Given the description of an element on the screen output the (x, y) to click on. 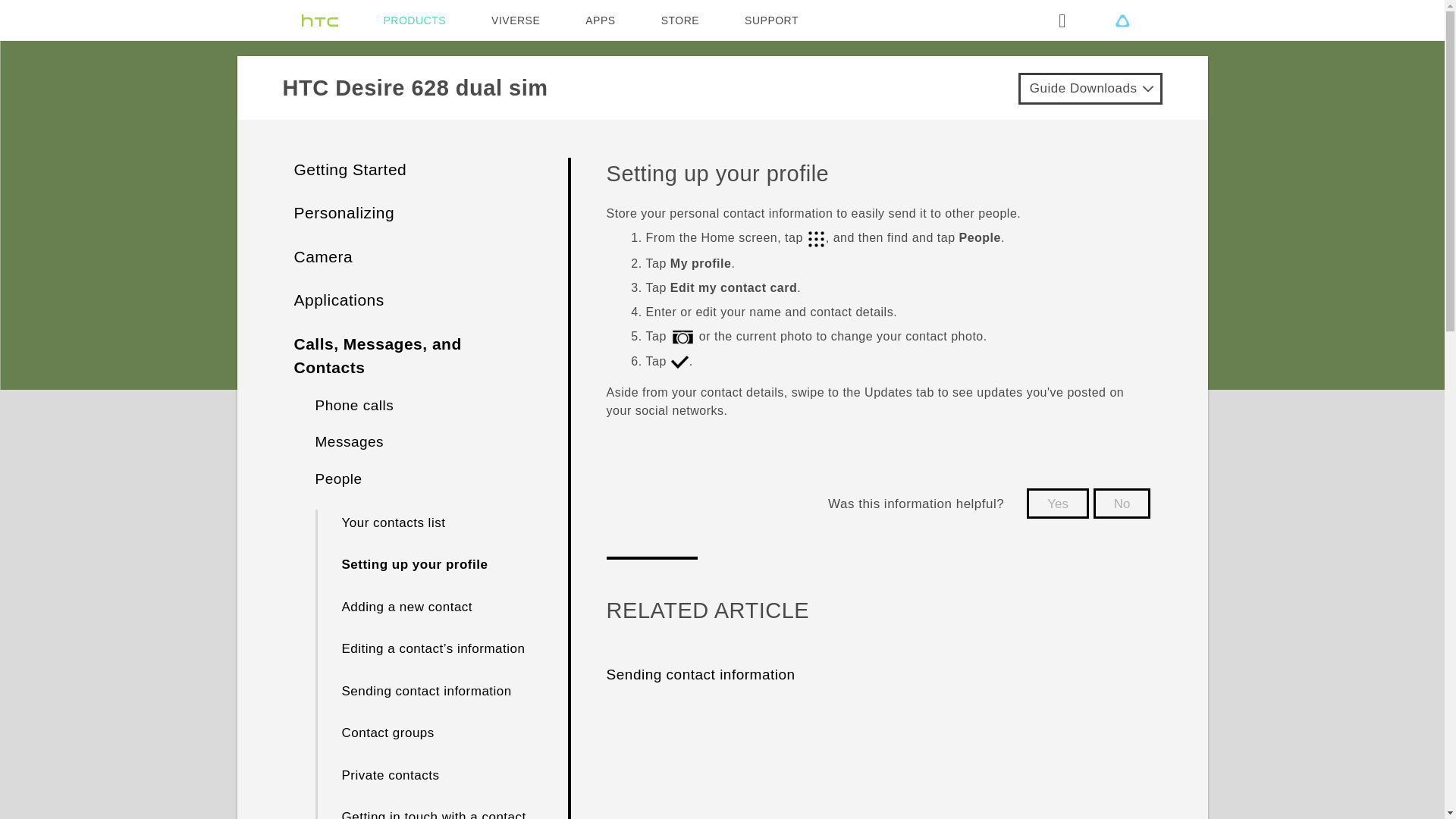
STORE (679, 20)
SUPPORT (770, 20)
PRODUCTS (415, 20)
VIVERSE (516, 20)
Getting Started (350, 169)
